Given the description of an element on the screen output the (x, y) to click on. 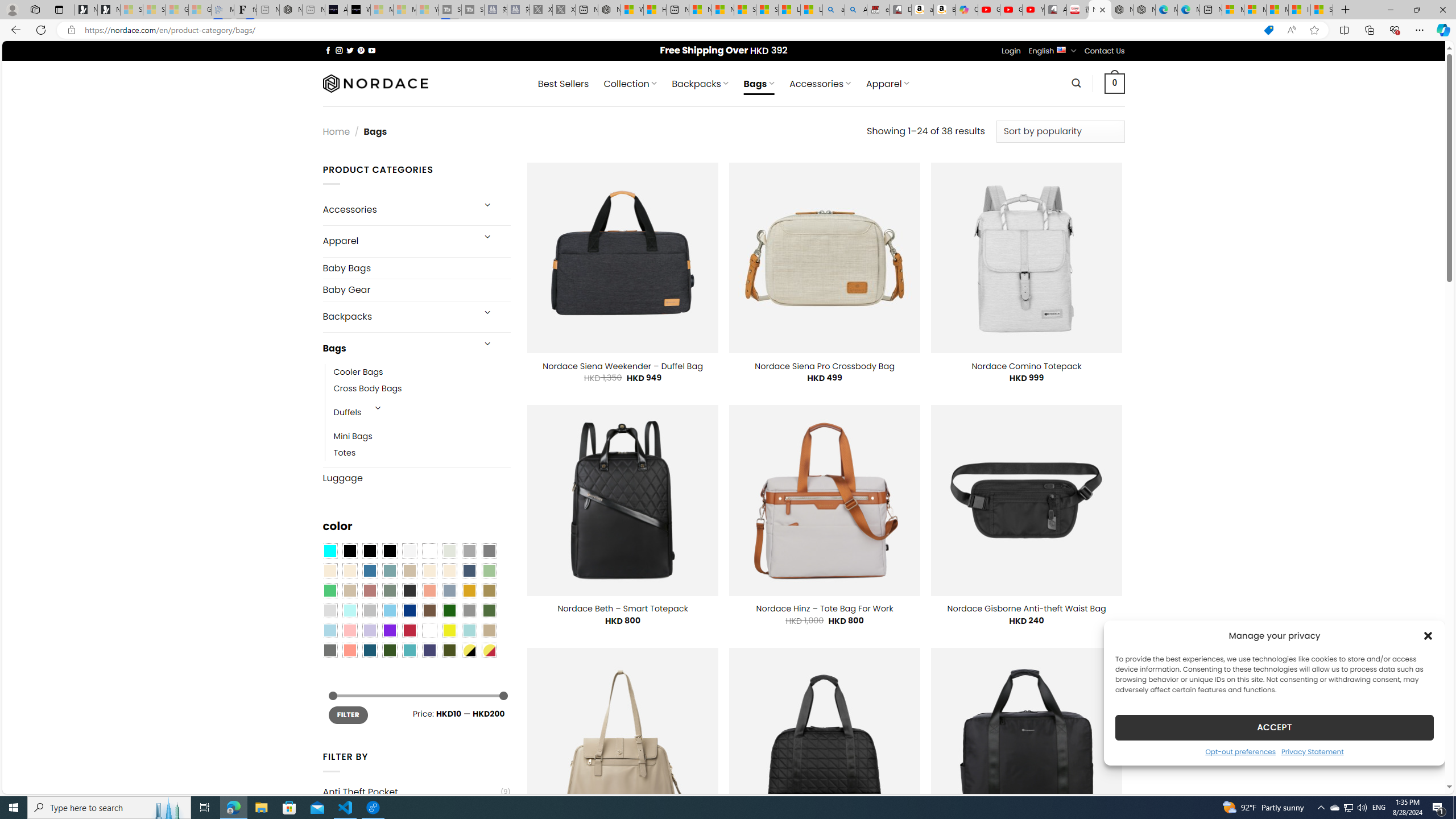
Pink (349, 630)
Follow on Instagram (338, 49)
Privacy Statement (1312, 750)
Duffels (347, 412)
Gold (468, 590)
Army Green (449, 649)
Gray (468, 610)
I Gained 20 Pounds of Muscle in 30 Days! | Watch (1300, 9)
This site has coupons! Shopping in Microsoft Edge (1268, 29)
English (1061, 49)
